Given the description of an element on the screen output the (x, y) to click on. 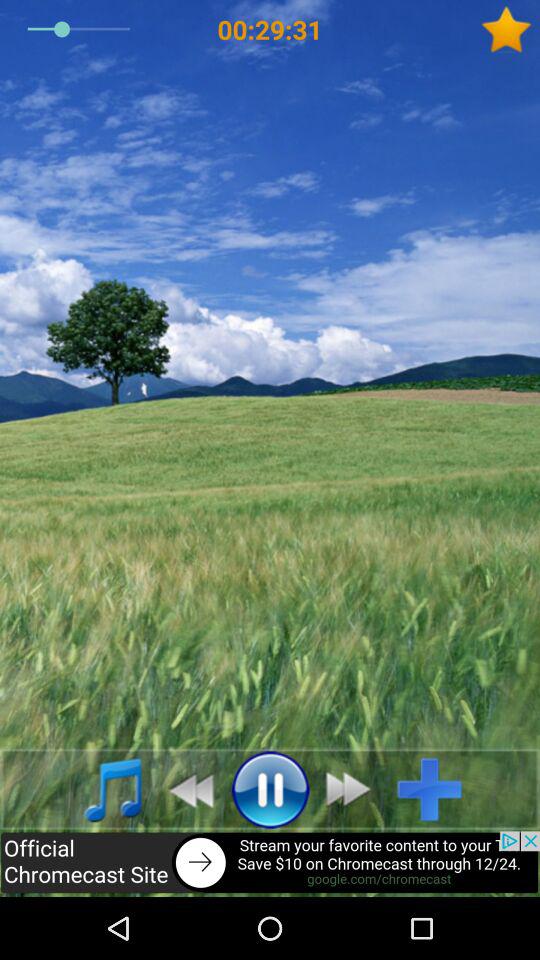
click discription (270, 864)
